Given the description of an element on the screen output the (x, y) to click on. 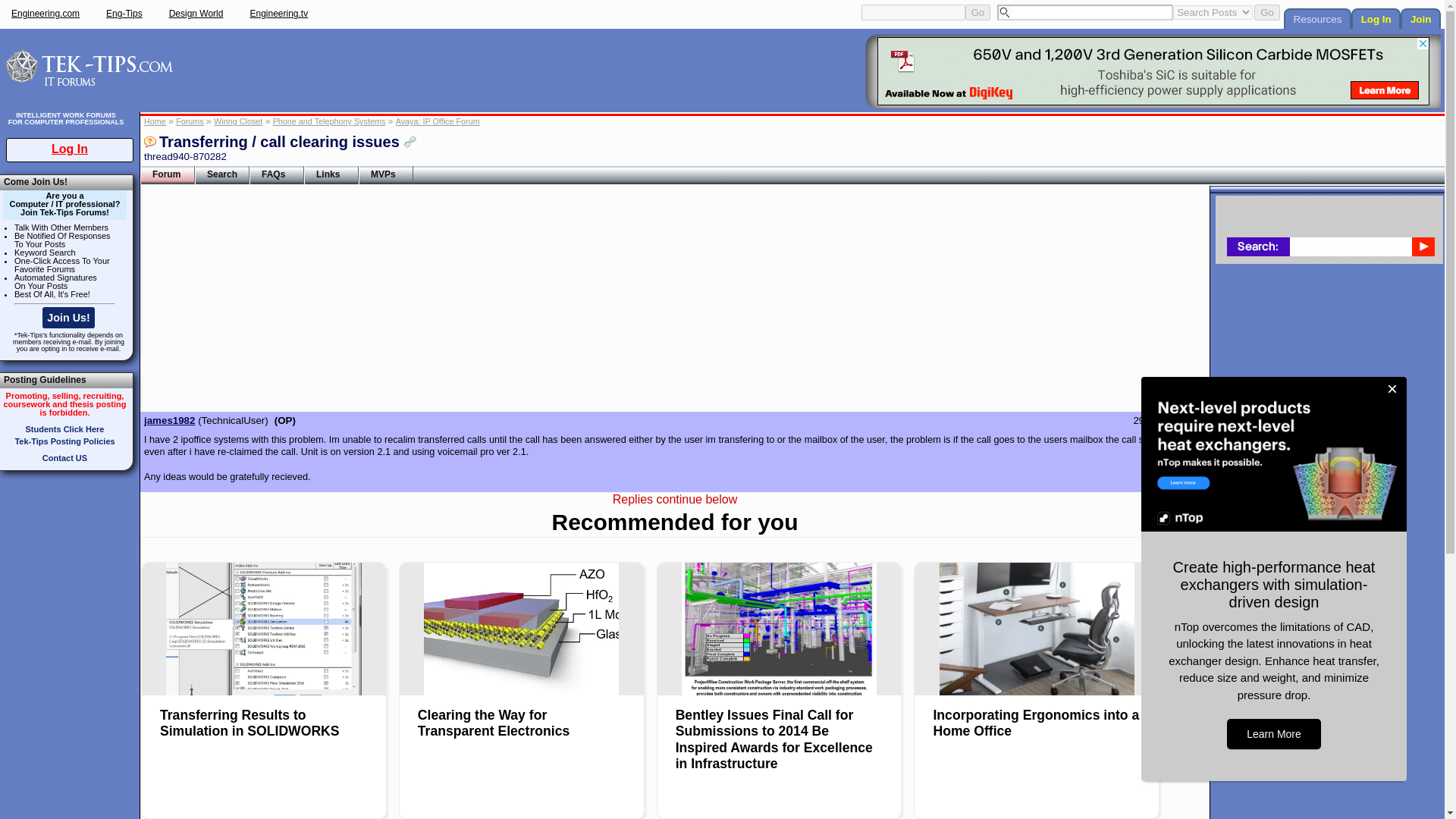
Search (221, 175)
Forum (167, 175)
Tek-Tips Posting Policies (64, 440)
Join (1420, 18)
Students Click Here (65, 429)
Go (978, 12)
Engineering.tv (277, 13)
Resources (1317, 18)
Eng-Tips (124, 13)
Links (331, 175)
3rd party ad content (1153, 70)
Home (154, 121)
thread940-870282 (185, 156)
Log In (68, 148)
Contact US (64, 457)
